Given the description of an element on the screen output the (x, y) to click on. 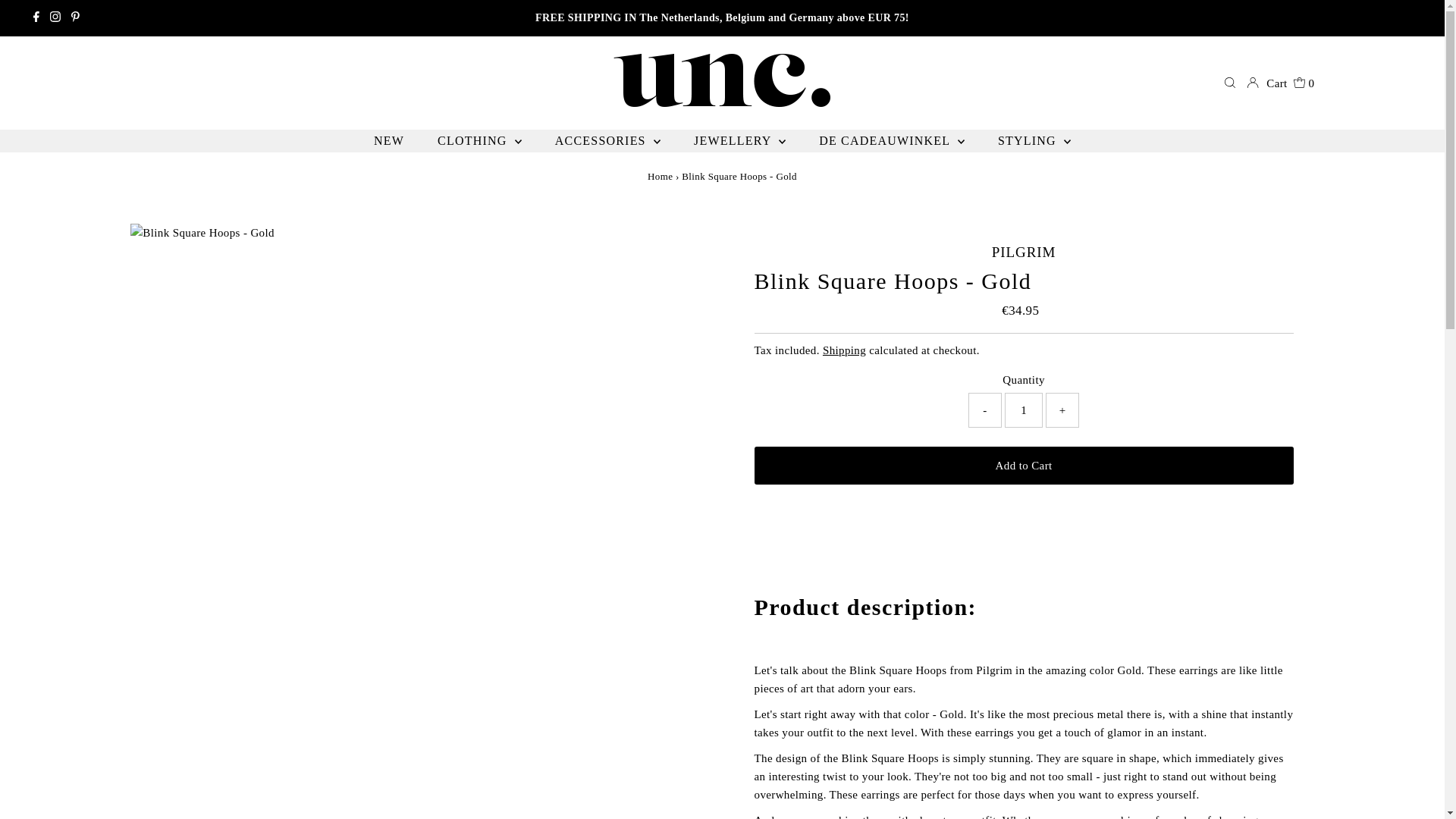
Home (659, 175)
1 (1023, 410)
Add to Cart (1023, 465)
